Given the description of an element on the screen output the (x, y) to click on. 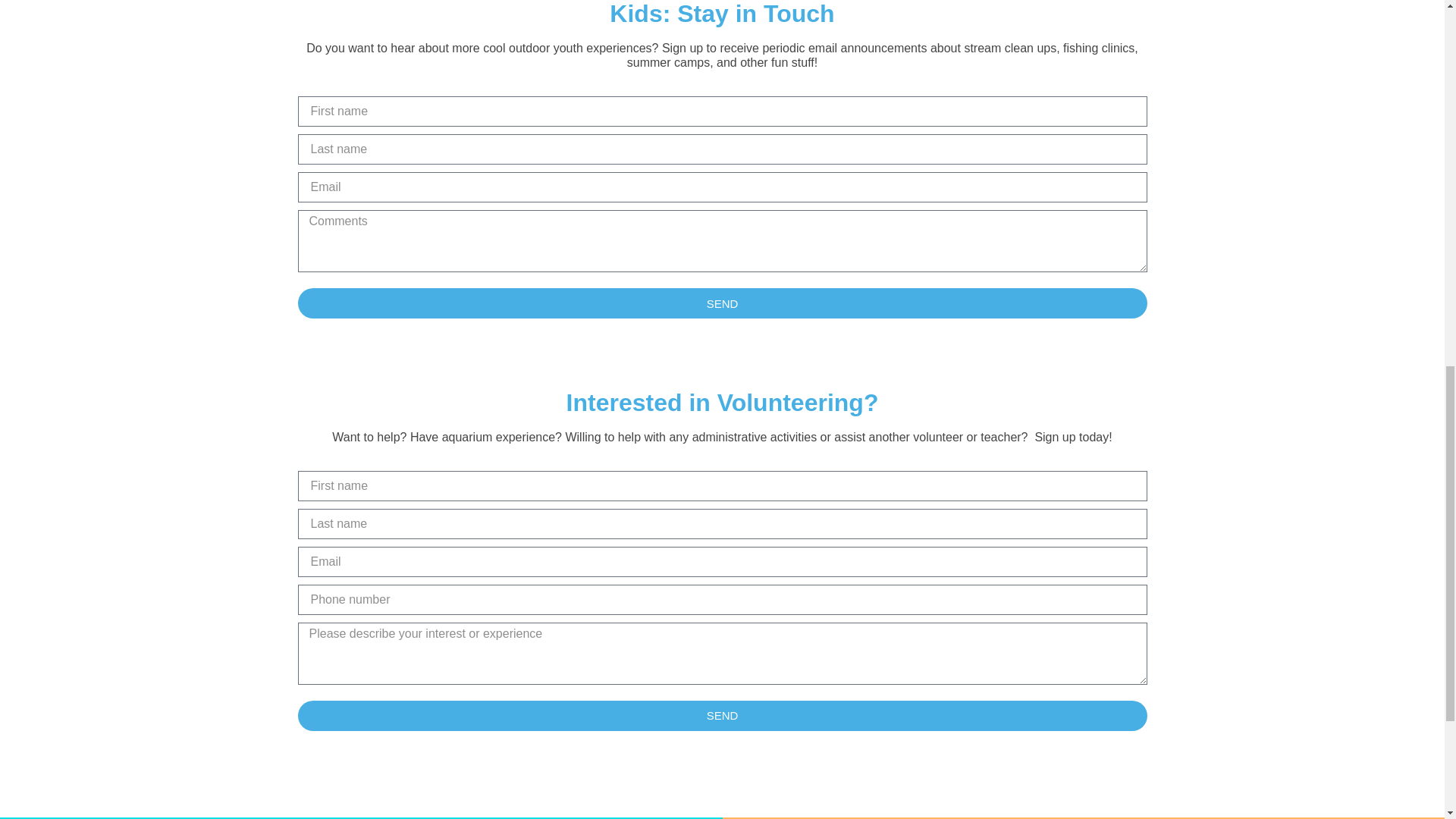
SEND (722, 303)
DONATE (1083, 818)
SEND (722, 716)
